Given the description of an element on the screen output the (x, y) to click on. 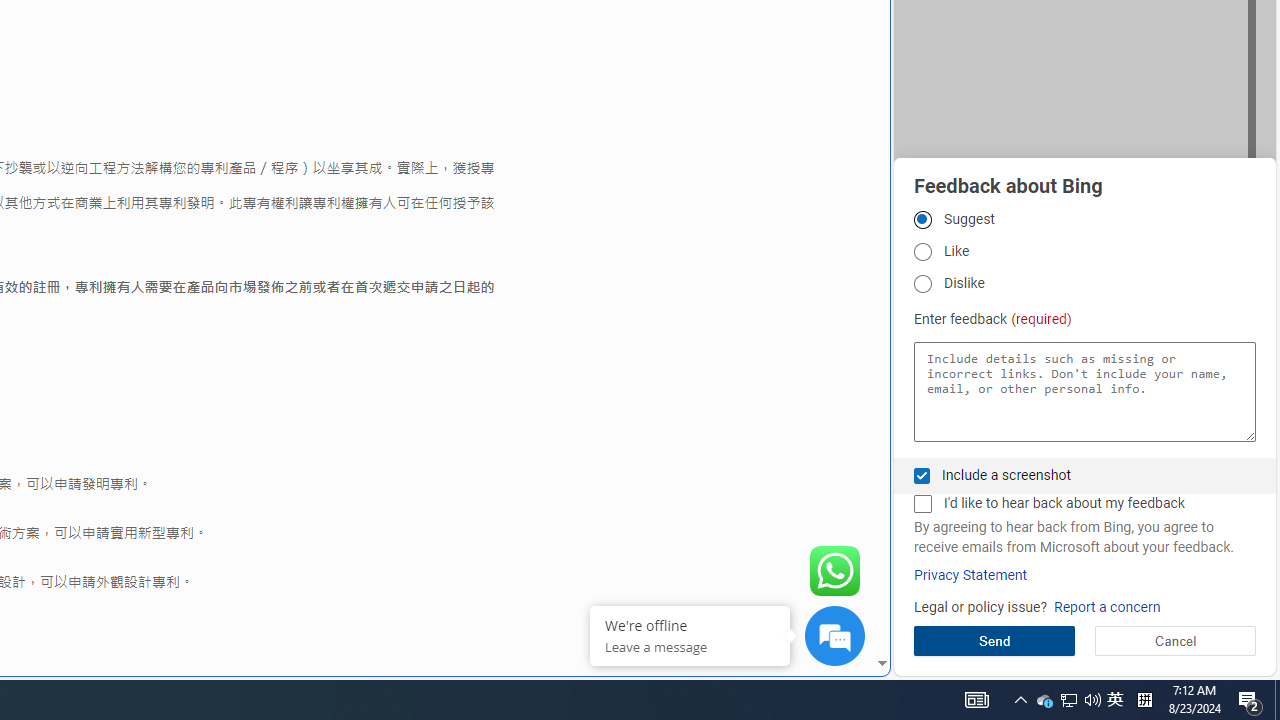
google_privacy_policy_zh-CN.pdf (687, 482)
Like (922, 251)
Send (994, 640)
Privacy Statement (970, 575)
MSN (687, 223)
Report a concern (1106, 607)
Include a screenshot (921, 475)
Cancel (1174, 640)
Suggest (922, 219)
I'd like to hear back about my feedback (922, 503)
